Given the description of an element on the screen output the (x, y) to click on. 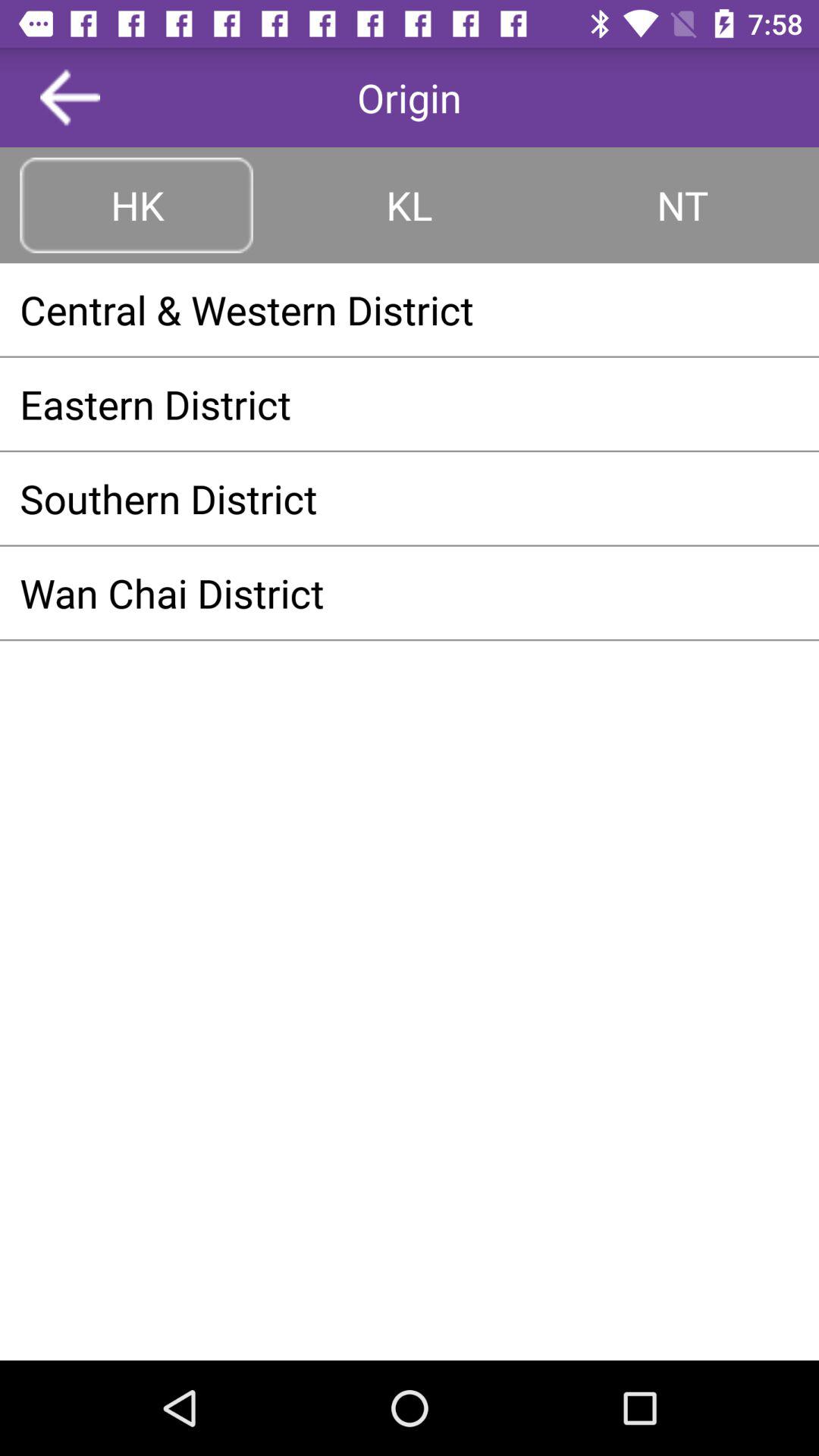
flip to the central & western district app (409, 309)
